Given the description of an element on the screen output the (x, y) to click on. 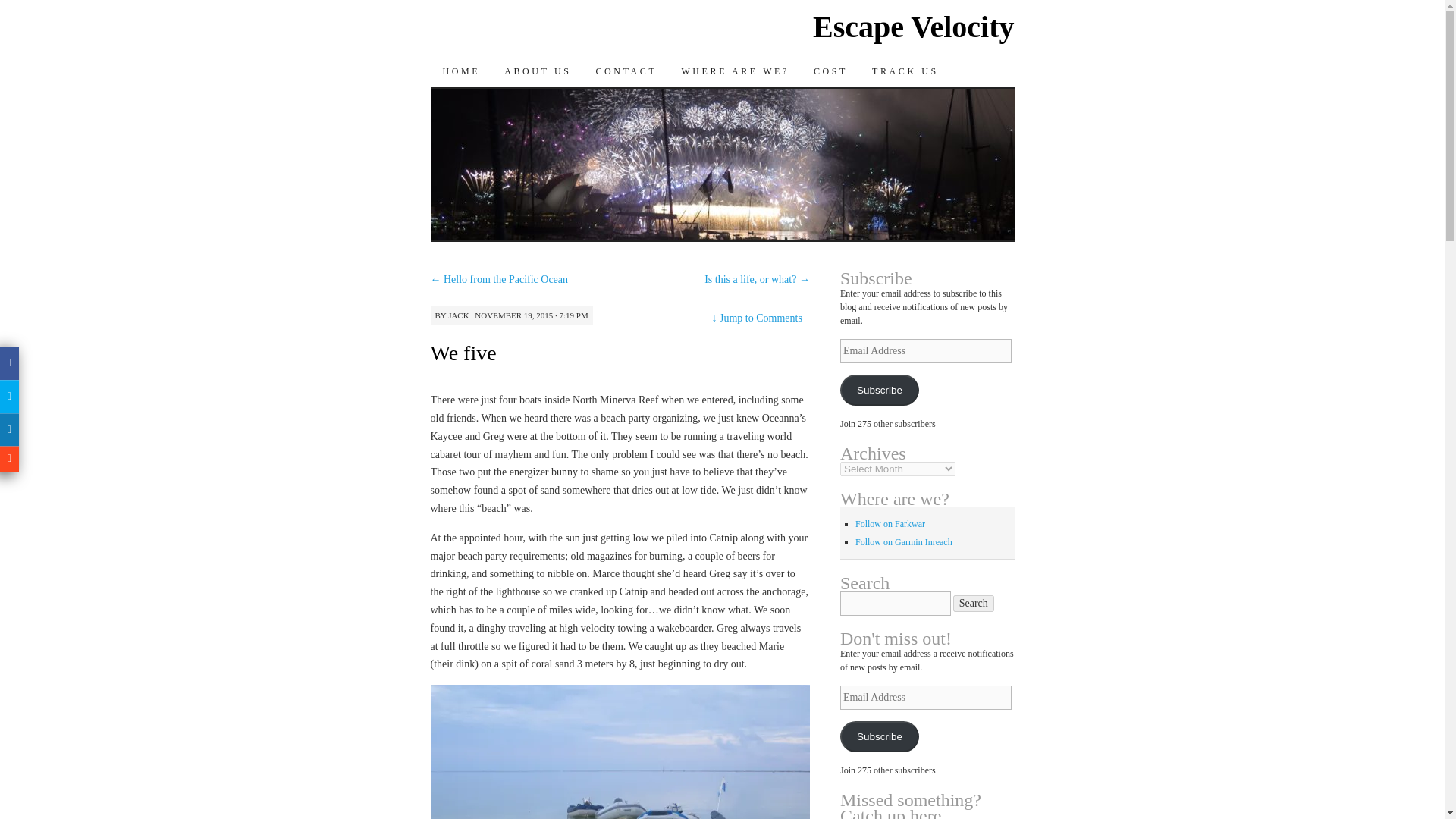
TRACK US (905, 70)
JACK (458, 315)
COST (831, 70)
Subscribe (879, 389)
ABOUT US (537, 70)
View all posts by Jack (458, 315)
Escape Velocity (913, 26)
Search (973, 603)
CONTACT (626, 70)
WHERE ARE WE? (735, 70)
